Given the description of an element on the screen output the (x, y) to click on. 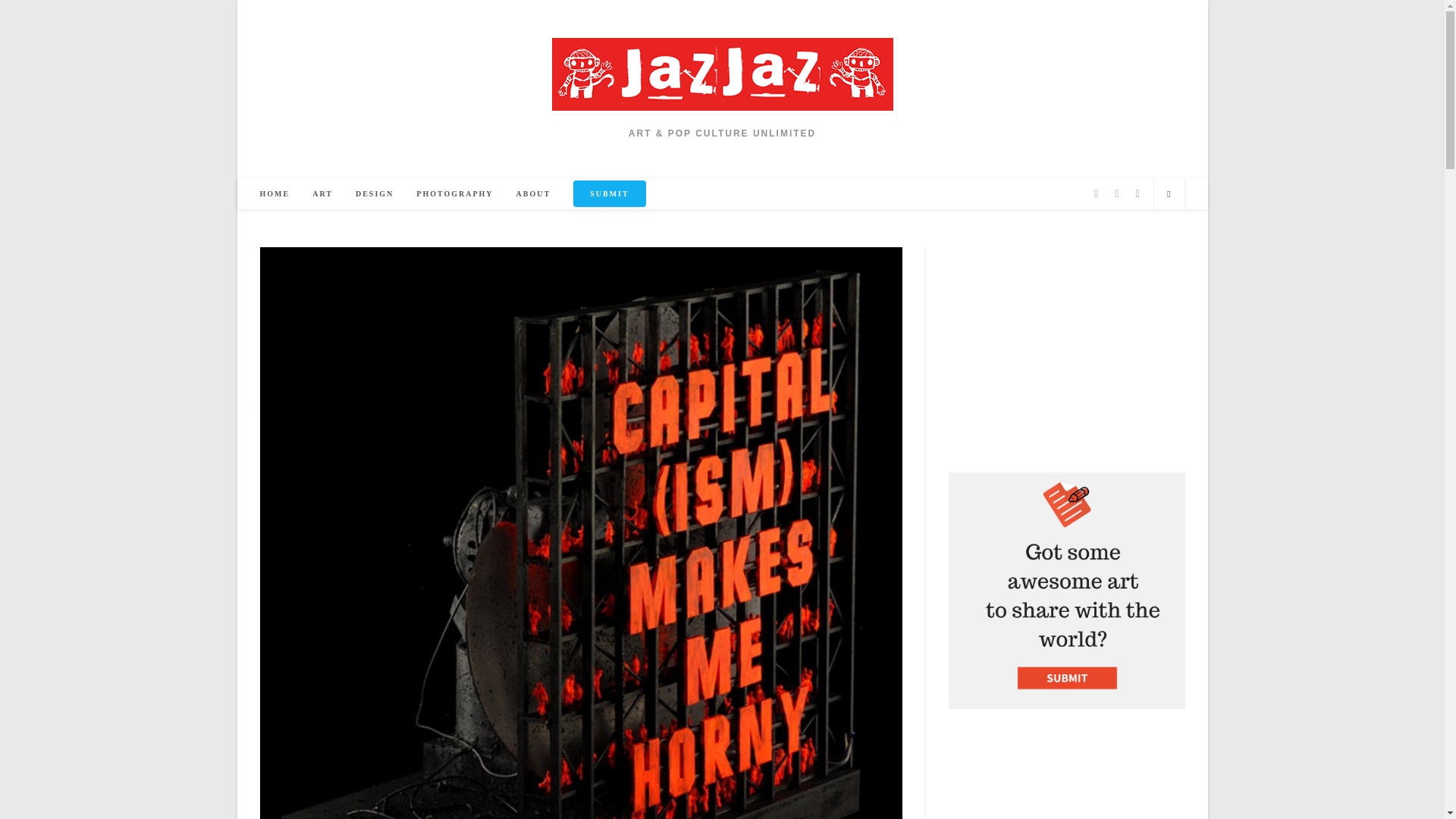
SUBMIT (609, 194)
PHOTOGRAPHY (453, 194)
ABOUT (533, 194)
DESIGN (373, 194)
HOME (274, 194)
ART (322, 194)
